Given the description of an element on the screen output the (x, y) to click on. 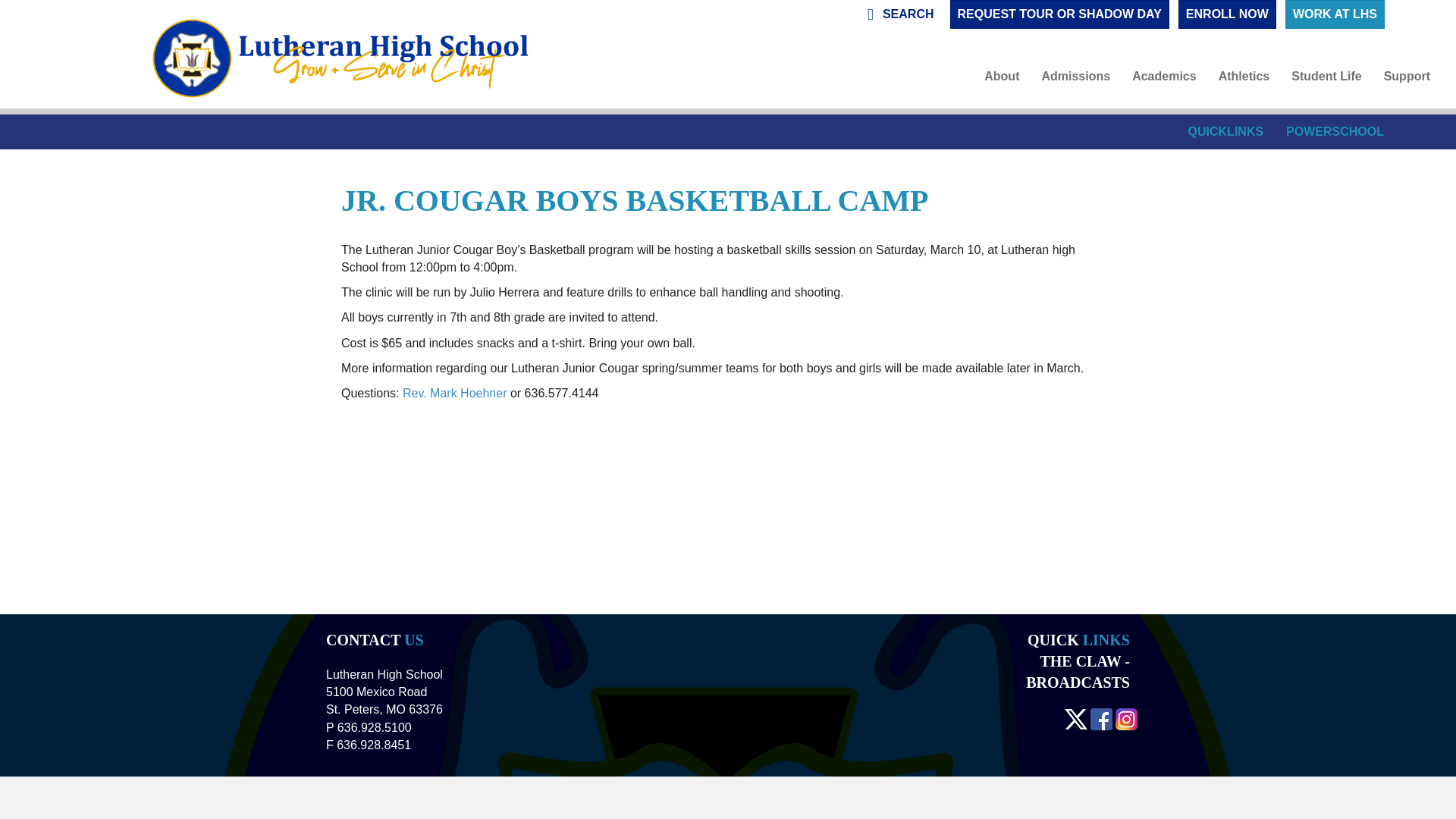
ENROLL NOW (1226, 14)
SEARCH (900, 14)
WORK AT LHS (1334, 14)
REQUEST TOUR OR SHADOW DAY (1059, 14)
THE CLAW - Broadcasts (1077, 671)
